Given the description of an element on the screen output the (x, y) to click on. 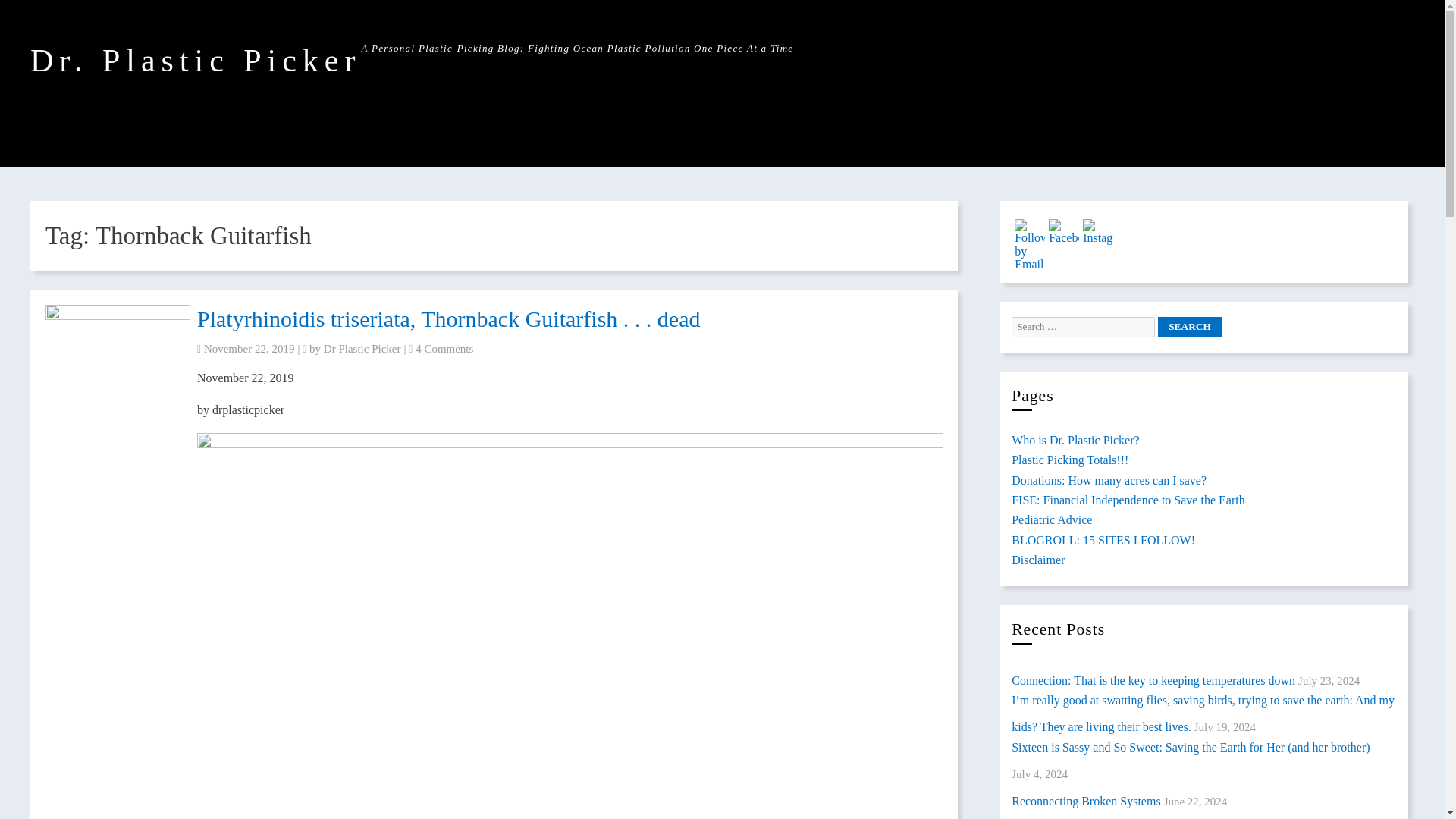
Instagram (1098, 231)
Search (1189, 326)
Platyrhinoidis triseriata, Thornback Guitarfish . . . dead (448, 318)
Donations: How many acres can I save? (1109, 480)
4 Comments (443, 348)
Connection: That is the key to keeping temperatures down (1153, 680)
Reconnecting Broken Systems (1085, 800)
Facebook (1063, 231)
Pediatric Advice (1051, 519)
Disclaimer (1037, 559)
Search (1189, 326)
BLOGROLL: 15 SITES I FOLLOW! (1103, 540)
FISE: Financial Independence to Save the Earth (1127, 499)
Dr Plastic Picker (362, 348)
Dr. Plastic Picker (195, 60)
